Given the description of an element on the screen output the (x, y) to click on. 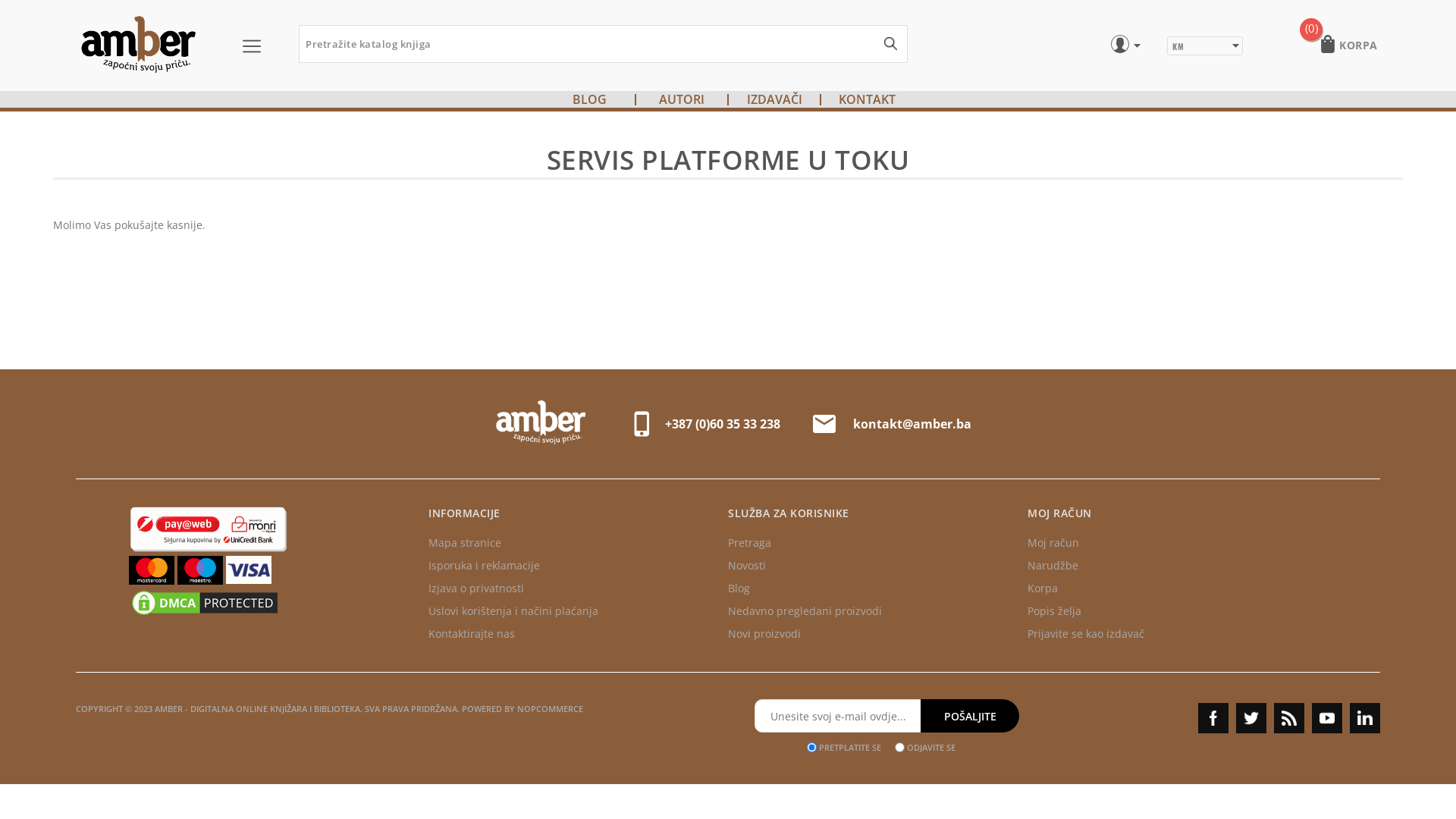
NOPCOMMERCE Element type: text (550, 708)
YOUTUBE Element type: text (1326, 717)
KONTAKT Element type: text (866, 99)
Novi proizvodi Element type: text (764, 633)
AUTORI Element type: text (681, 99)
LINKEDIN Element type: text (1364, 717)
RSS Element type: text (1289, 717)
Nedavno pregledani proizvodi Element type: text (804, 610)
Novosti Element type: text (746, 565)
TWITTER Element type: text (1251, 717)
Kontaktirajte nas Element type: text (471, 633)
Pretraga Element type: text (890, 43)
Pretraga Element type: text (749, 542)
FACEBOOK Element type: text (1213, 717)
Korpa Element type: text (1042, 587)
Mapa stranice Element type: text (464, 542)
Izjava o privatnosti Element type: text (476, 587)
BLOG Element type: text (588, 99)
Isporuka i reklamacije Element type: text (483, 565)
DMCA.com Protection Status Element type: hover (204, 613)
Blog Element type: text (738, 587)
